Given the description of an element on the screen output the (x, y) to click on. 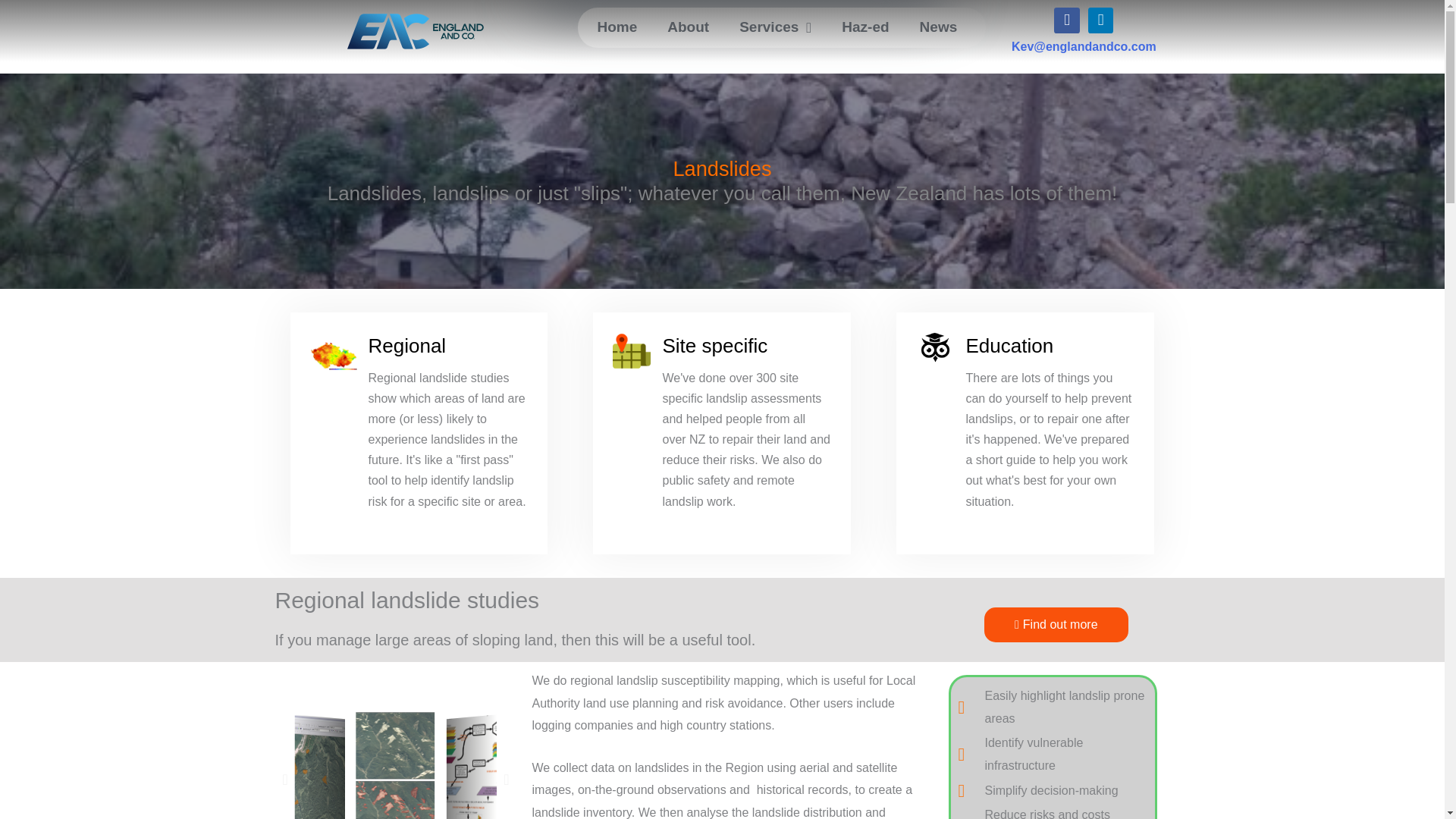
Education (1008, 345)
About (687, 27)
Services (775, 27)
Find out more (1056, 624)
Site specific (714, 345)
Home (616, 27)
News (938, 27)
Haz-ed (865, 27)
Regional (407, 345)
